Given the description of an element on the screen output the (x, y) to click on. 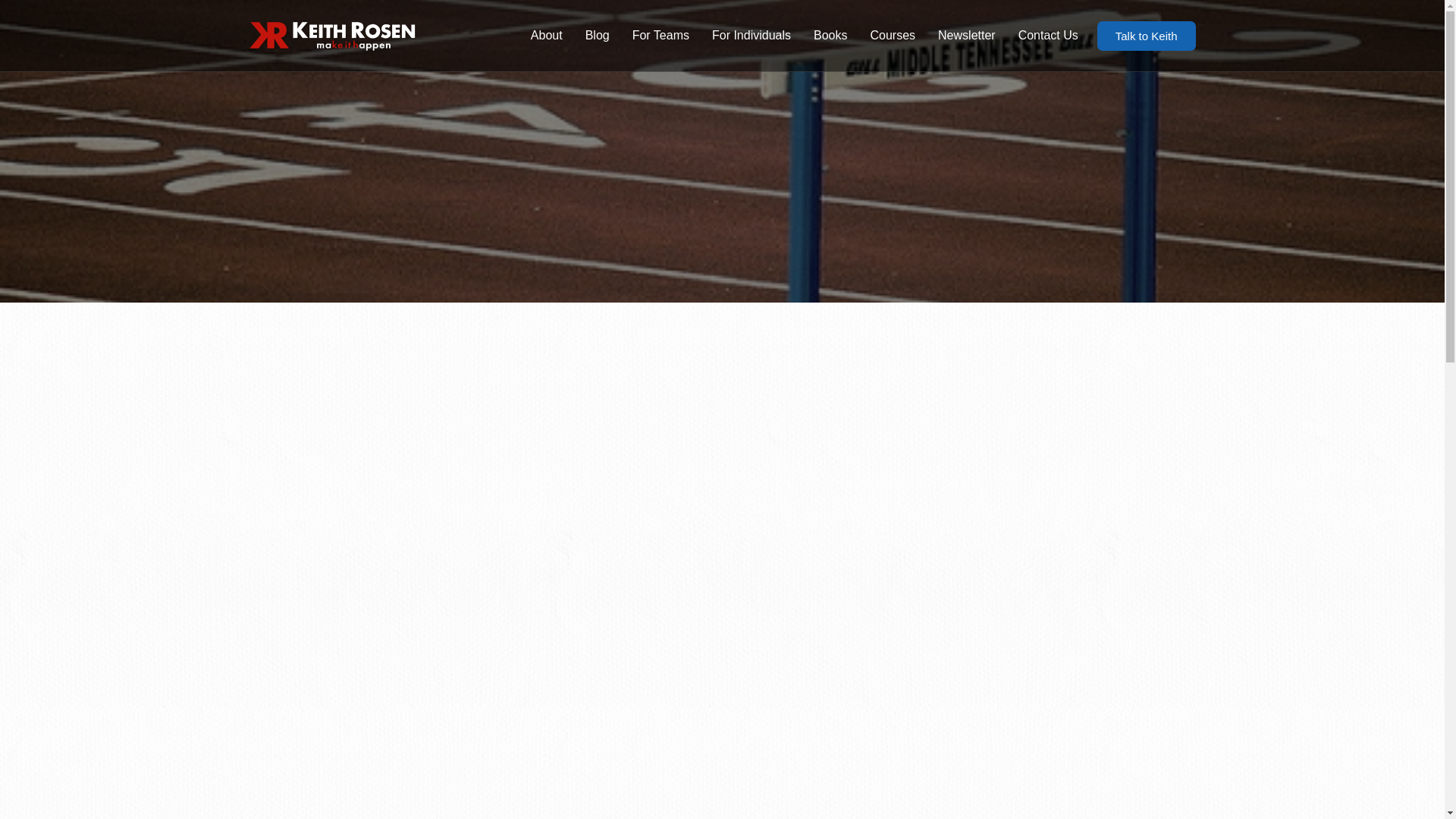
Blog (597, 35)
For Teams (660, 35)
Talk to Keith (1146, 35)
Newsletter (966, 35)
About (546, 35)
Books (830, 35)
Courses (892, 35)
For Individuals (751, 35)
Contact Us (1048, 35)
